Given the description of an element on the screen output the (x, y) to click on. 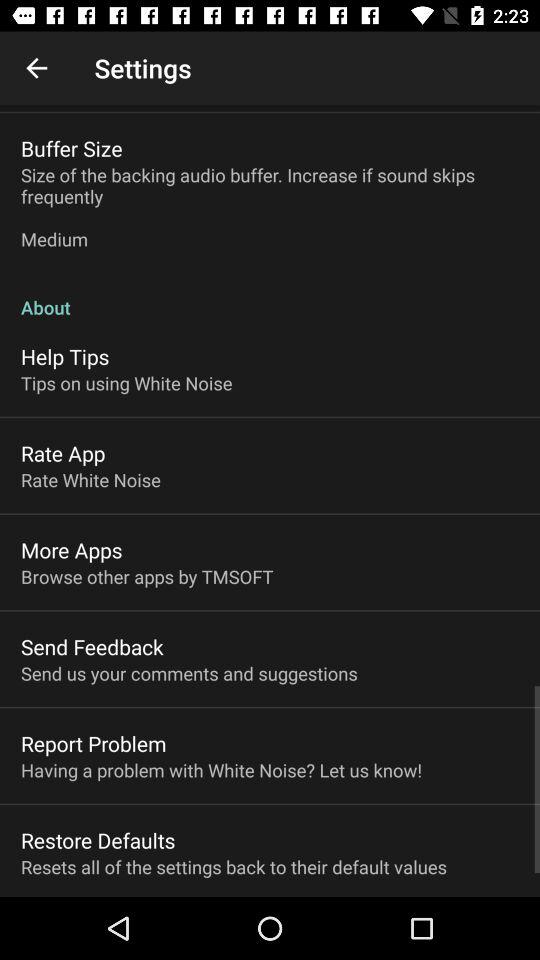
scroll to the send us your (189, 673)
